Given the description of an element on the screen output the (x, y) to click on. 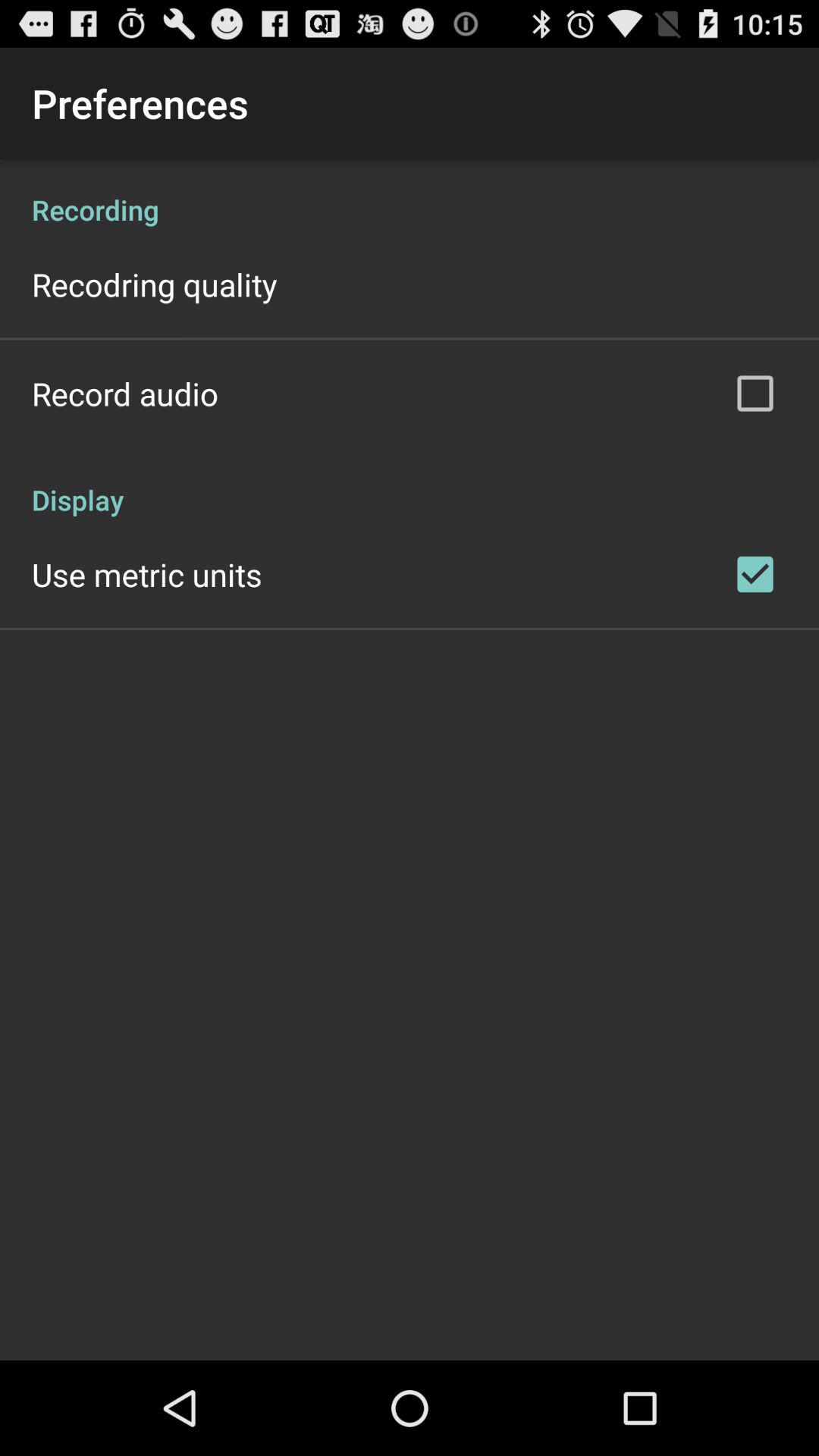
scroll until the display (409, 483)
